Given the description of an element on the screen output the (x, y) to click on. 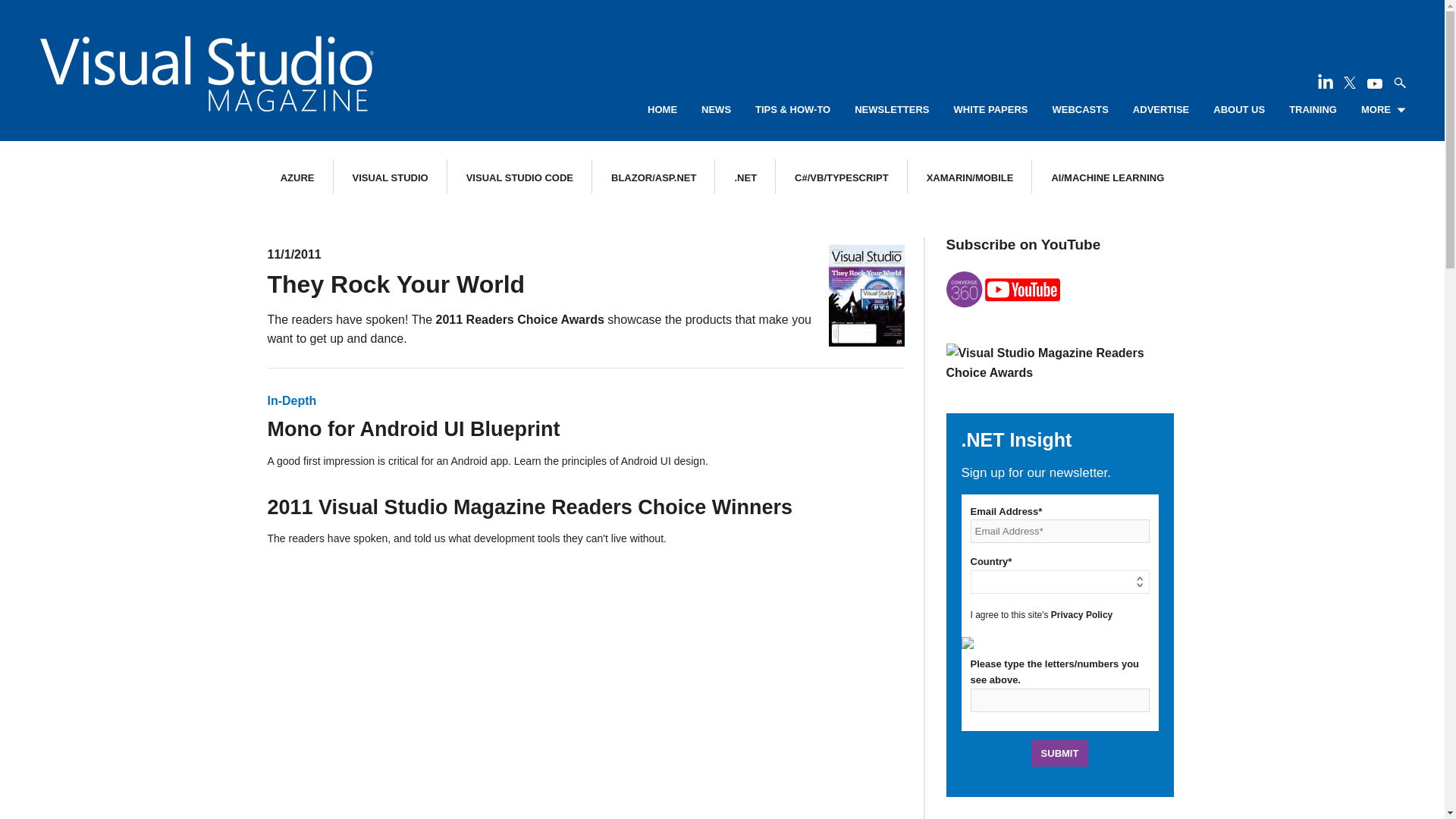
Submit (1059, 753)
WEBCASTS (1079, 109)
WHITE PAPERS (990, 109)
NEWS (715, 109)
TRAINING (1312, 109)
VISUAL STUDIO CODE (519, 177)
VISUAL STUDIO (390, 177)
ABOUT US (1238, 109)
HOME (662, 109)
NEWSLETTERS (891, 109)
AZURE (297, 177)
MORE (1383, 109)
ADVERTISE (1160, 109)
.NET (745, 177)
